Given the description of an element on the screen output the (x, y) to click on. 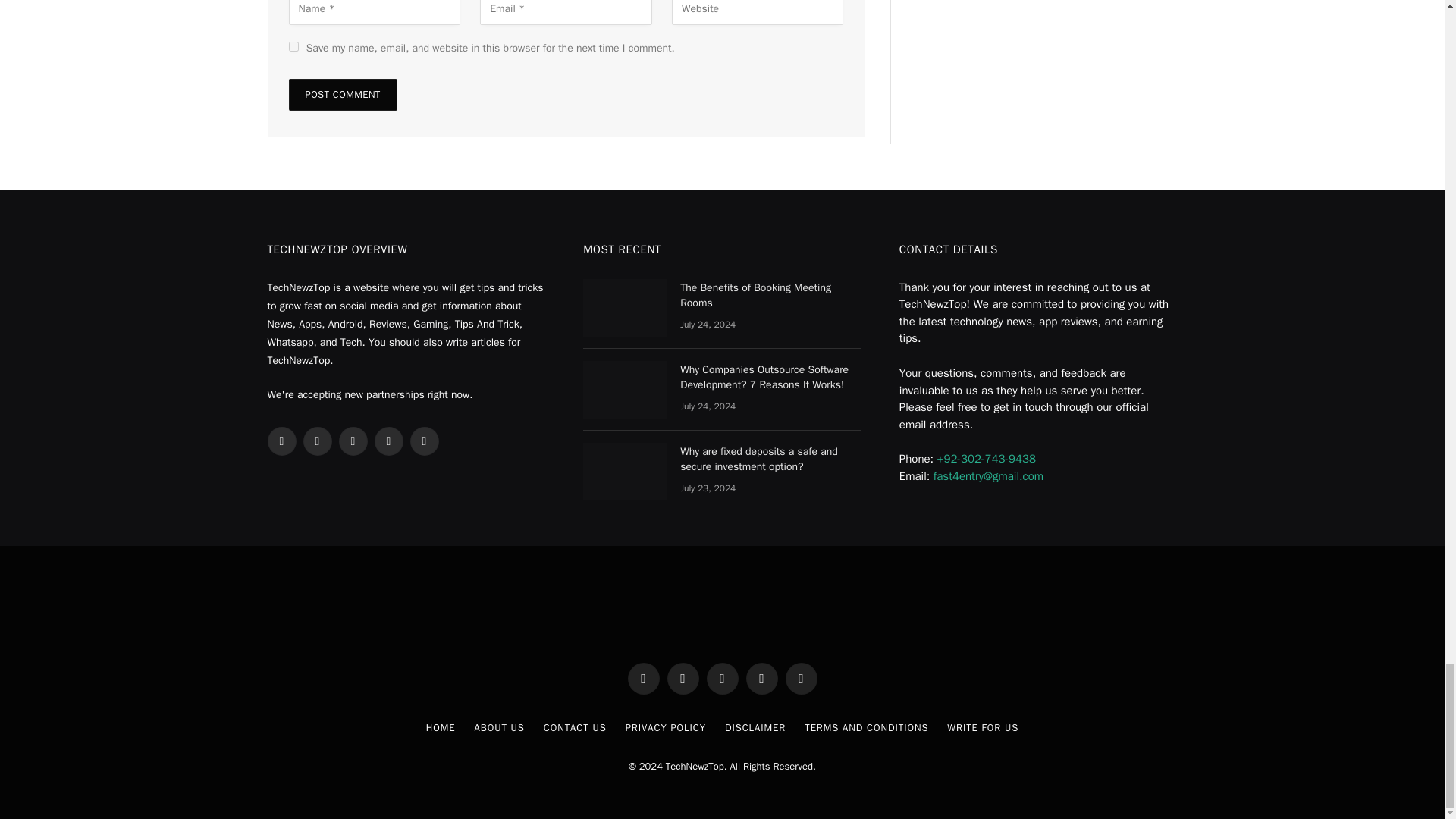
Post Comment (342, 94)
yes (293, 46)
